Given the description of an element on the screen output the (x, y) to click on. 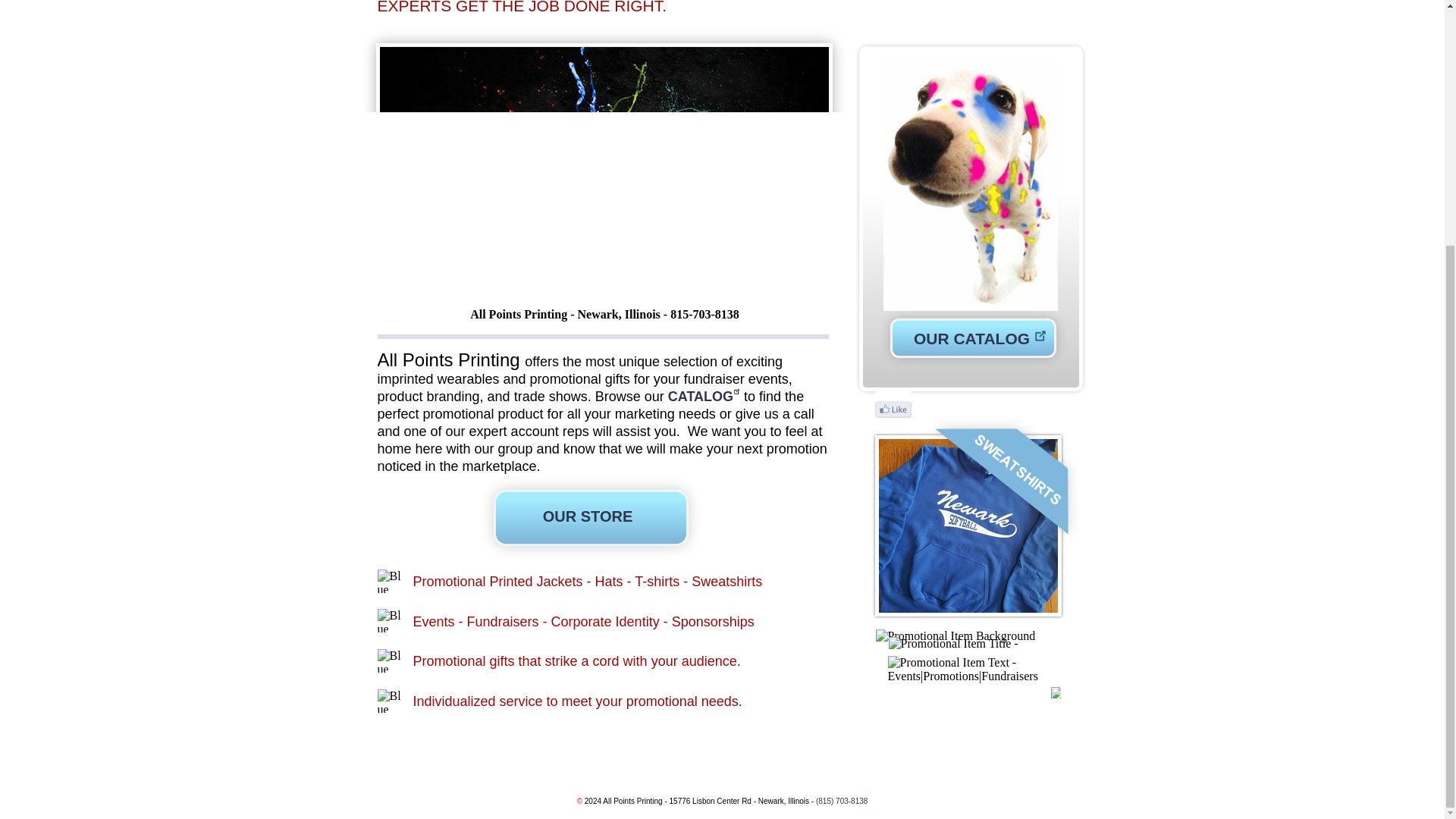
Opens in a new tab. (706, 396)
Opens in a new tab. (971, 338)
OUR CATALOG (971, 338)
CATALOG (706, 396)
OUR STORE (588, 515)
Opens in a new tab. (973, 338)
